Given the description of an element on the screen output the (x, y) to click on. 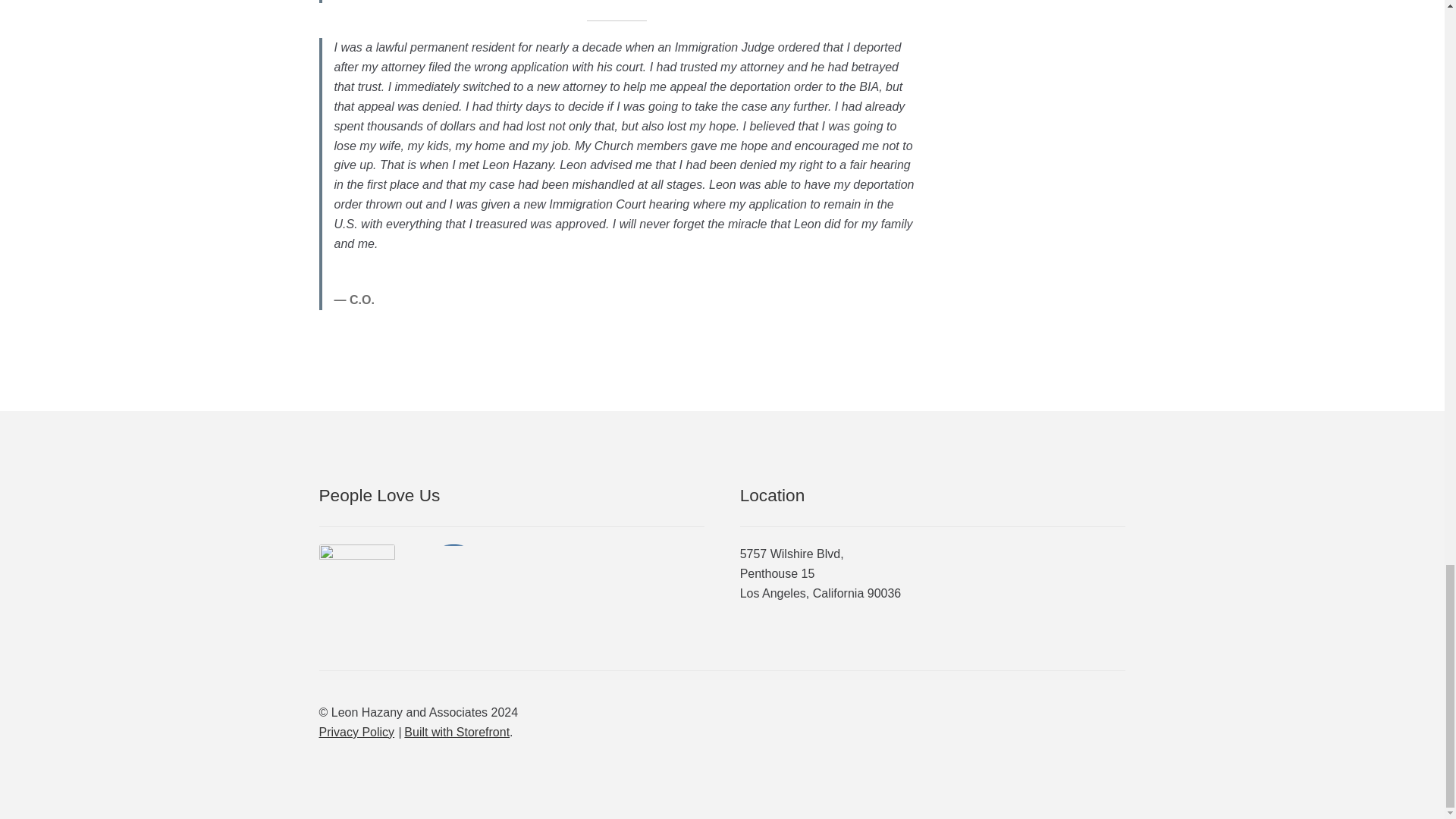
Built with Storefront (456, 731)
Privacy Policy (356, 731)
